Given the description of an element on the screen output the (x, y) to click on. 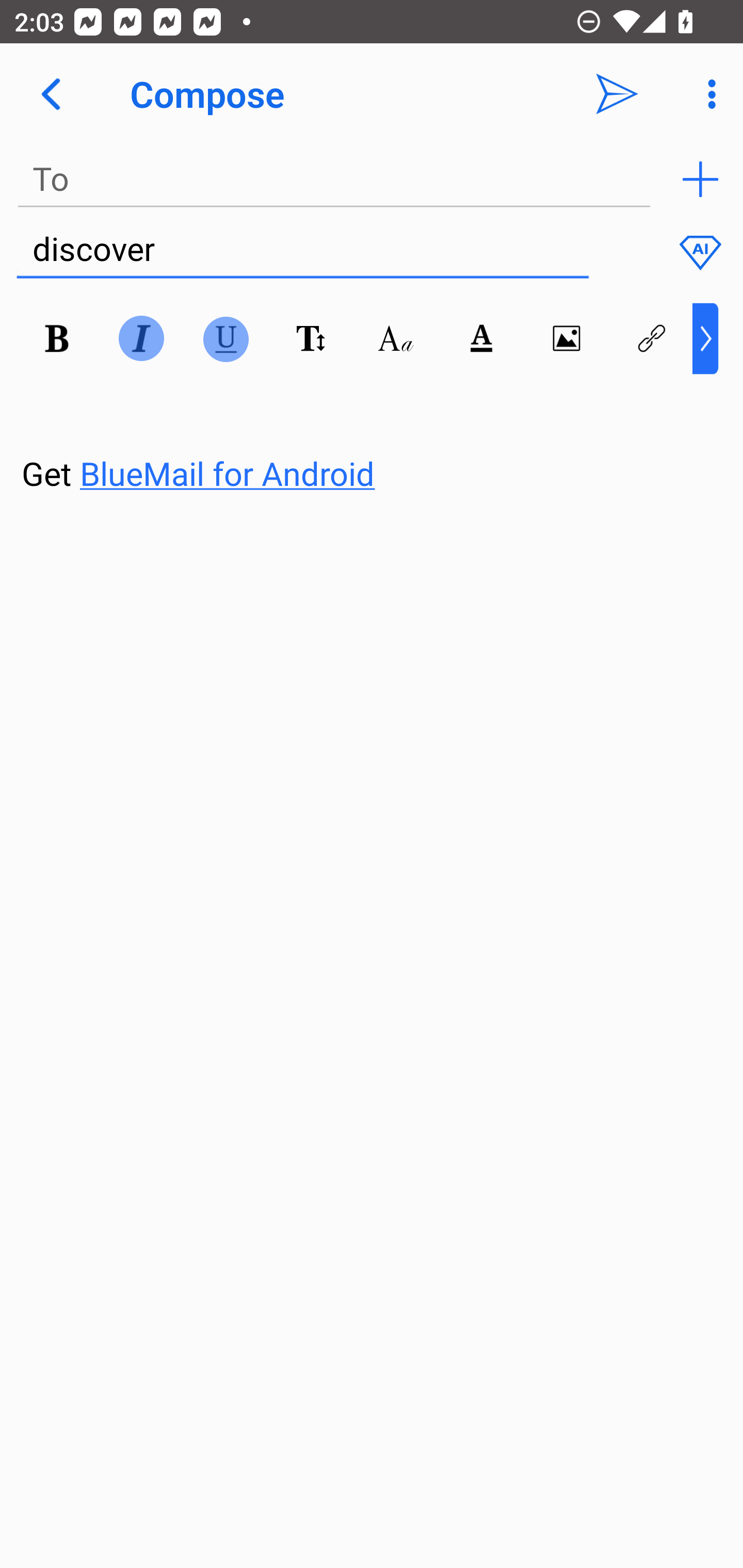
Navigate up (50, 93)
Send (616, 93)
More Options (706, 93)
To (334, 179)
Add recipient (To) (699, 179)
discover (302, 249)


⁣Get BlueMail for Android ​ (355, 435)
